Given the description of an element on the screen output the (x, y) to click on. 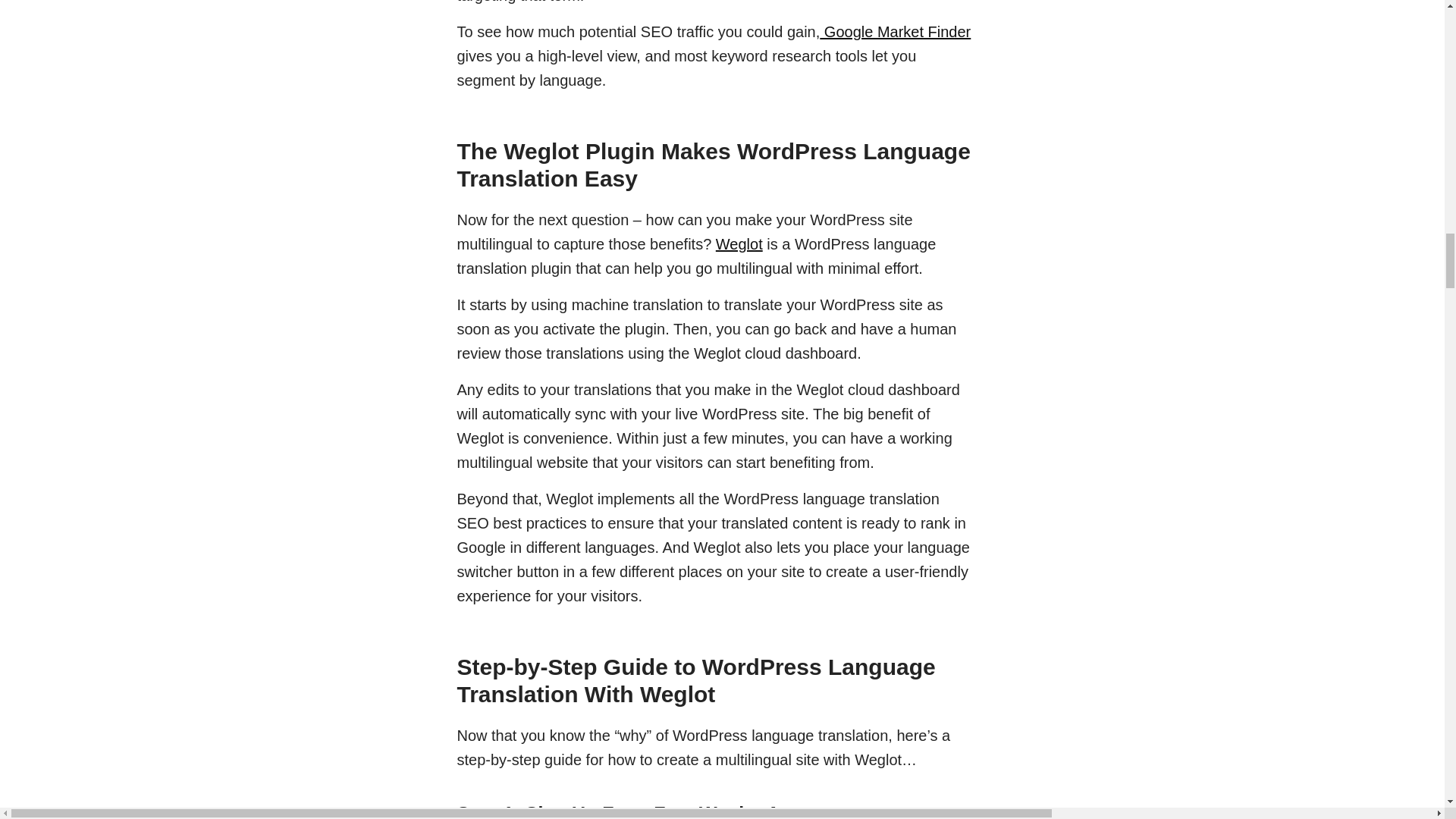
Google Market Finder (895, 31)
Weglot (739, 243)
